Given the description of an element on the screen output the (x, y) to click on. 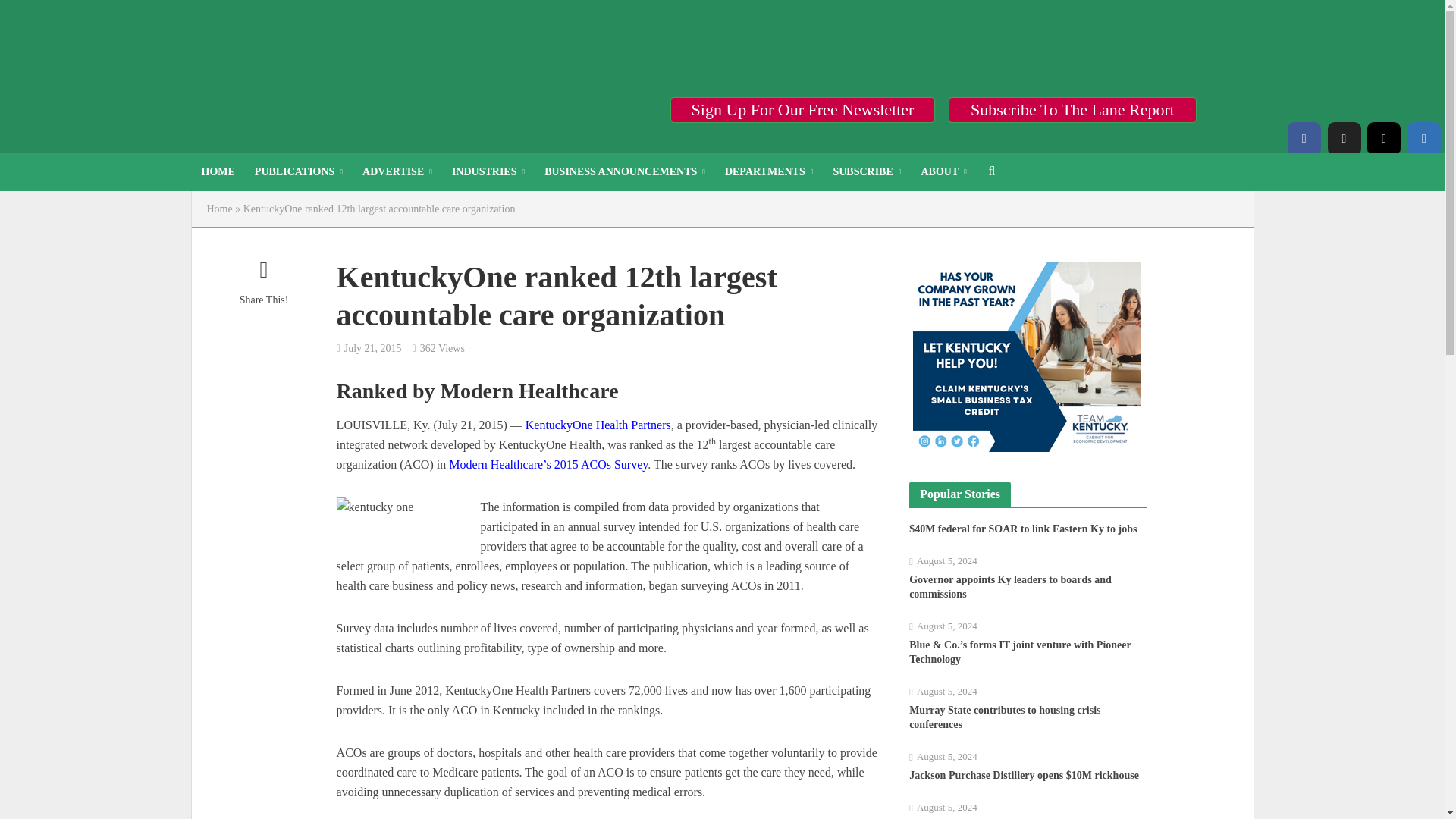
instagram (1383, 138)
Subscribe To The Lane Report (1072, 109)
INDUSTRIES (488, 171)
Linkedin (1424, 138)
Facebook (1303, 138)
Instagram (1383, 138)
twitter (1342, 138)
Subscribe To The Lane Report (1072, 109)
HOME (217, 171)
PUBLICATIONS (298, 171)
